Given the description of an element on the screen output the (x, y) to click on. 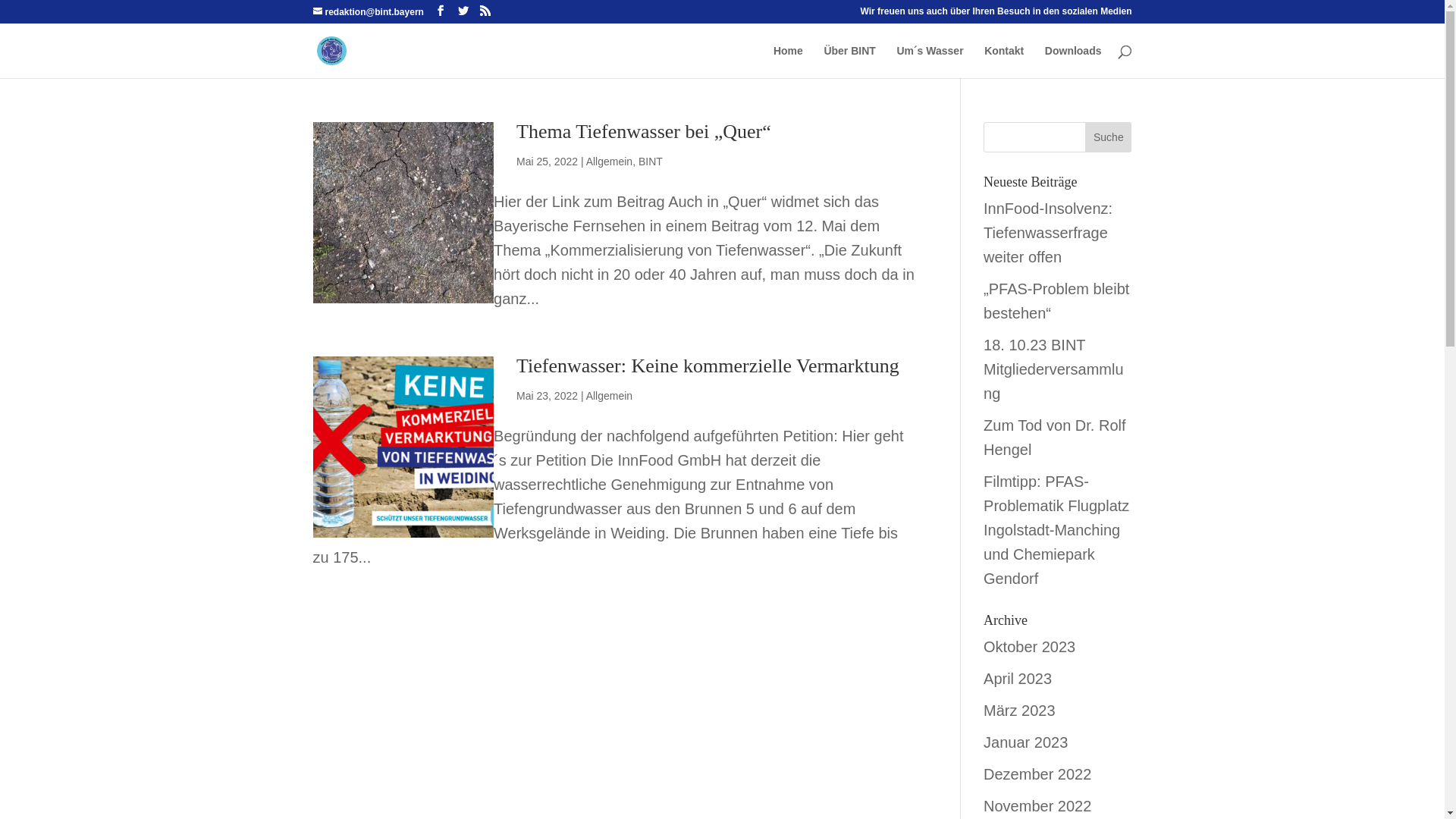
Oktober 2023 Element type: text (1029, 646)
InnFood-Insolvenz: Tiefenwasserfrage weiter offen Element type: text (1047, 232)
18. 10.23 BINT Mitgliederversammlung Element type: text (1053, 368)
April 2023 Element type: text (1017, 678)
Tiefenwasser: Keine kommerzielle Vermarktung Element type: text (707, 365)
Dezember 2022 Element type: text (1037, 773)
Home Element type: text (788, 61)
Kontakt Element type: text (1003, 61)
Januar 2023 Element type: text (1025, 742)
Suche Element type: text (1108, 137)
redaktion@bint.bayern Element type: text (367, 11)
Downloads Element type: text (1072, 61)
Allgemein Element type: text (609, 395)
Allgemein Element type: text (609, 161)
BINT Element type: text (650, 161)
Zum Tod von Dr. Rolf Hengel Element type: text (1054, 437)
November 2022 Element type: text (1037, 805)
